Given the description of an element on the screen output the (x, y) to click on. 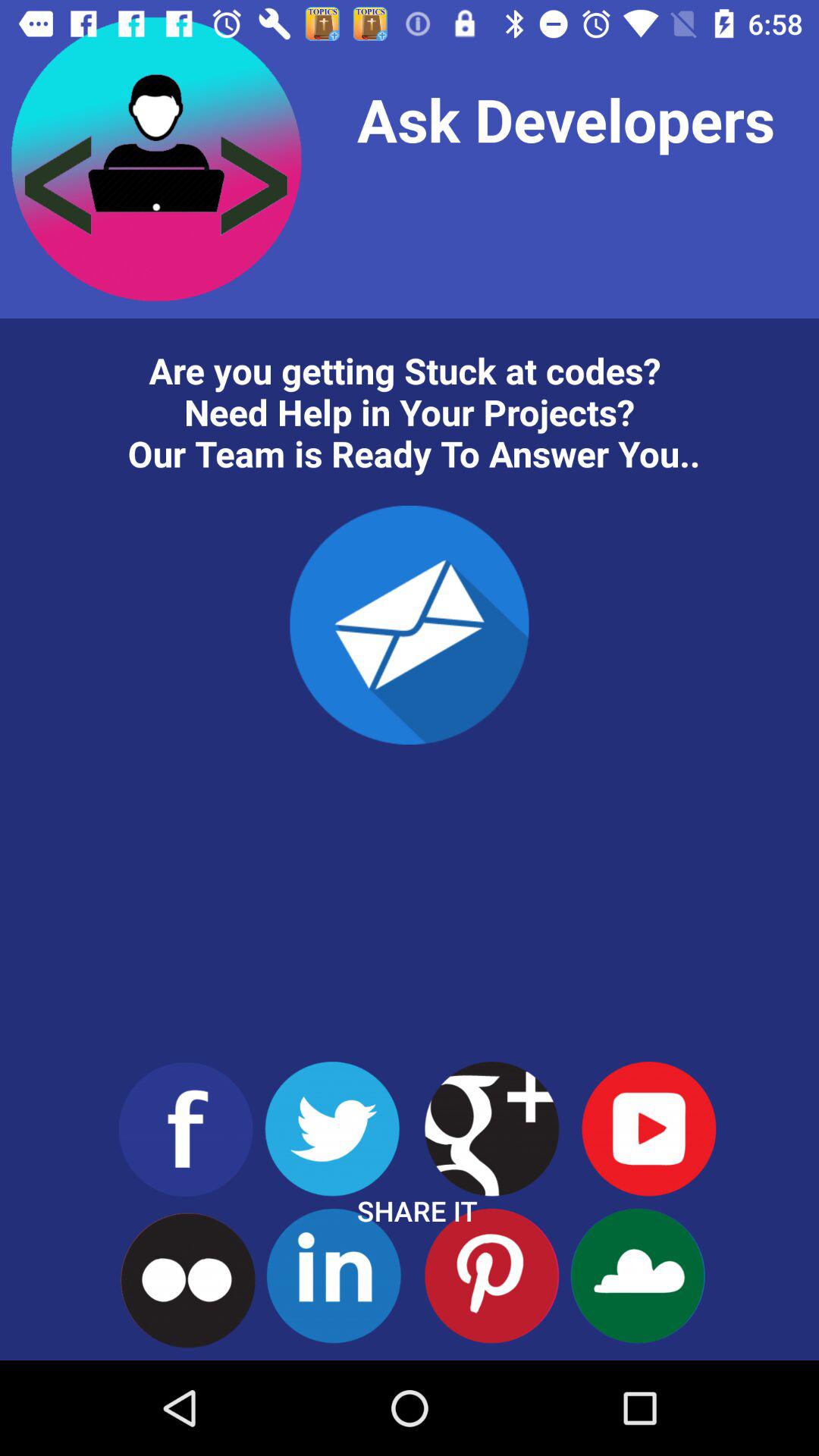
turn off the share it item (417, 1210)
